Given the description of an element on the screen output the (x, y) to click on. 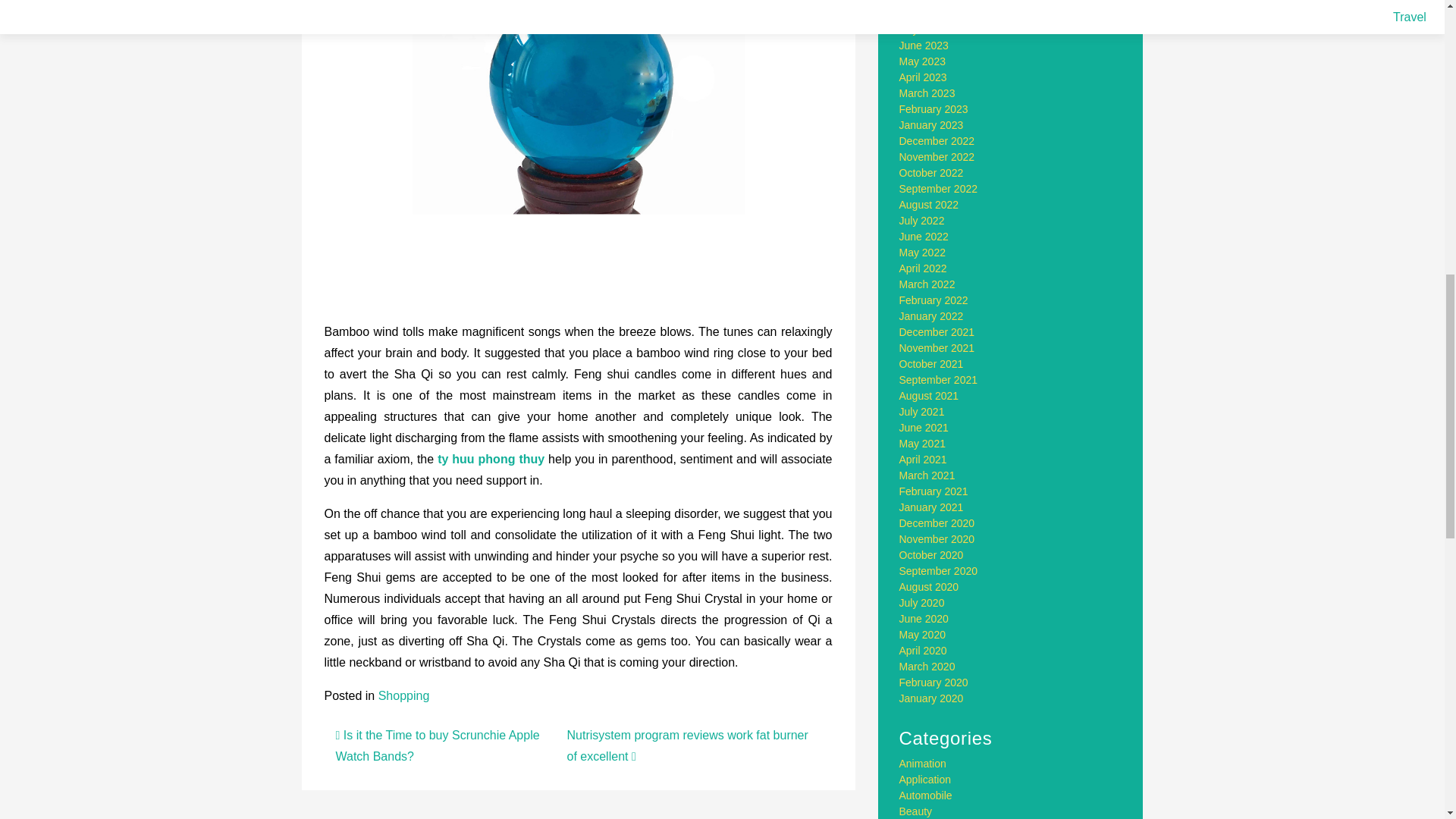
April 2023 (923, 77)
Shopping (403, 695)
March 2023 (927, 92)
September 2022 (938, 188)
September 2023 (938, 2)
August 2022 (929, 204)
ty huu phong thuy (491, 459)
August 2023 (929, 13)
 Is it the Time to buy Scrunchie Apple Watch Bands? (436, 745)
July 2023 (921, 29)
